Given the description of an element on the screen output the (x, y) to click on. 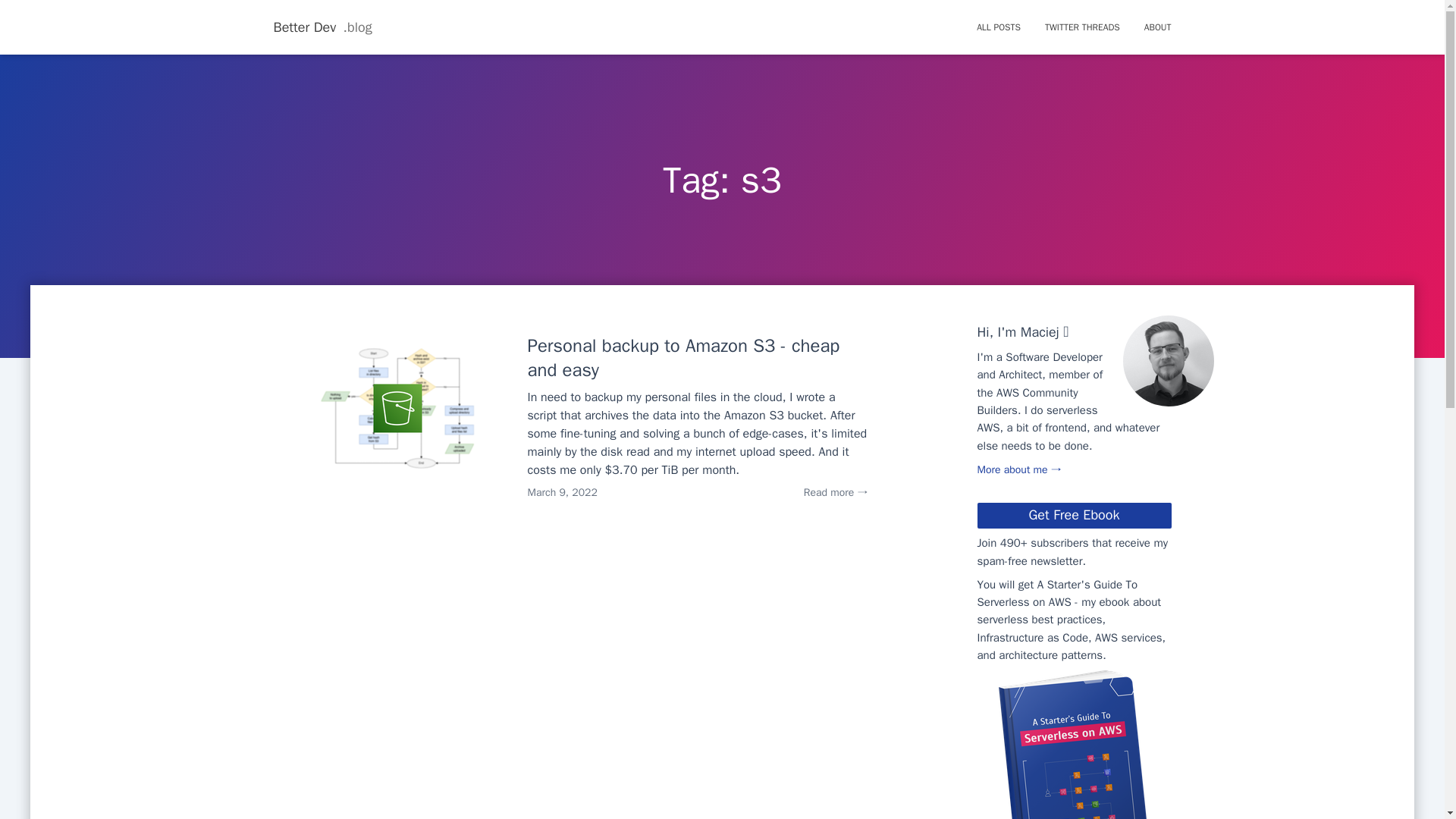
Better Dev .blog (322, 27)
ALL POSTS (997, 27)
ABOUT (1152, 27)
TWITTER THREADS (1082, 27)
